Given the description of an element on the screen output the (x, y) to click on. 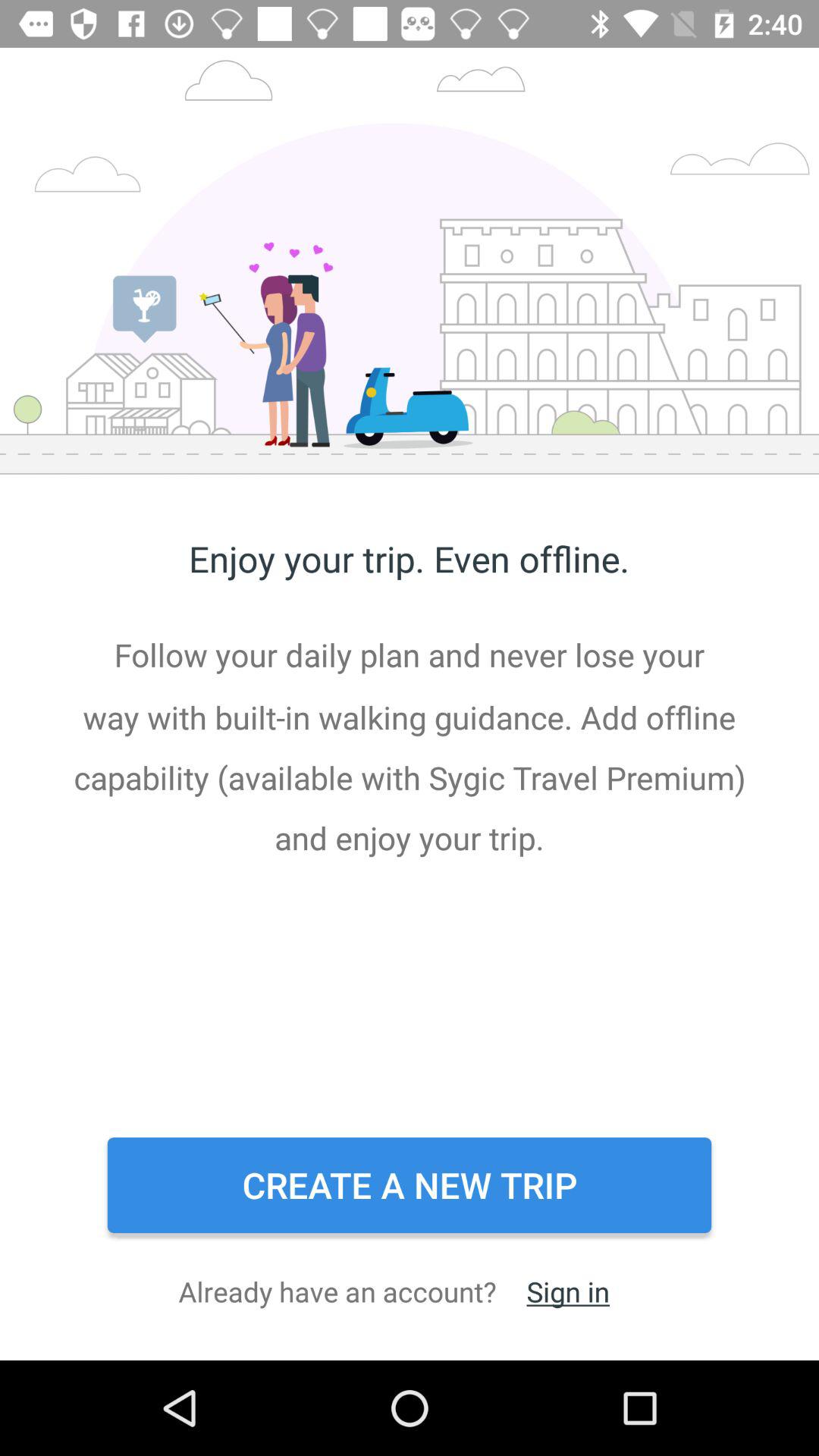
tap item above already have an item (409, 1185)
